Given the description of an element on the screen output the (x, y) to click on. 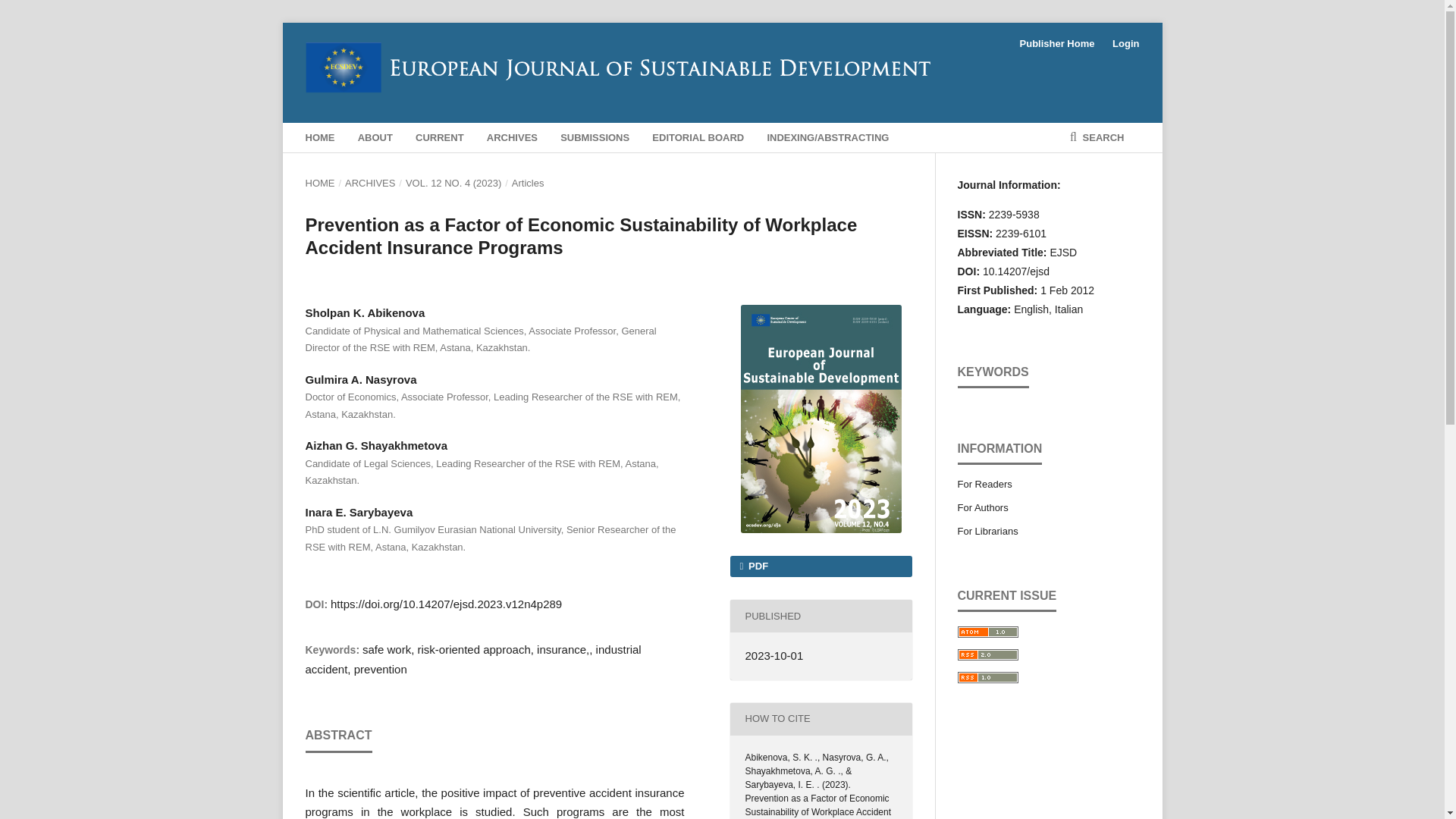
PDF (820, 566)
HOME (319, 183)
Publisher Home (1056, 43)
SUBMISSIONS (594, 137)
CURRENT (439, 137)
SEARCH (1096, 137)
Login (1121, 43)
ABOUT (375, 137)
ARCHIVES (511, 137)
ARCHIVES (369, 183)
